Given the description of an element on the screen output the (x, y) to click on. 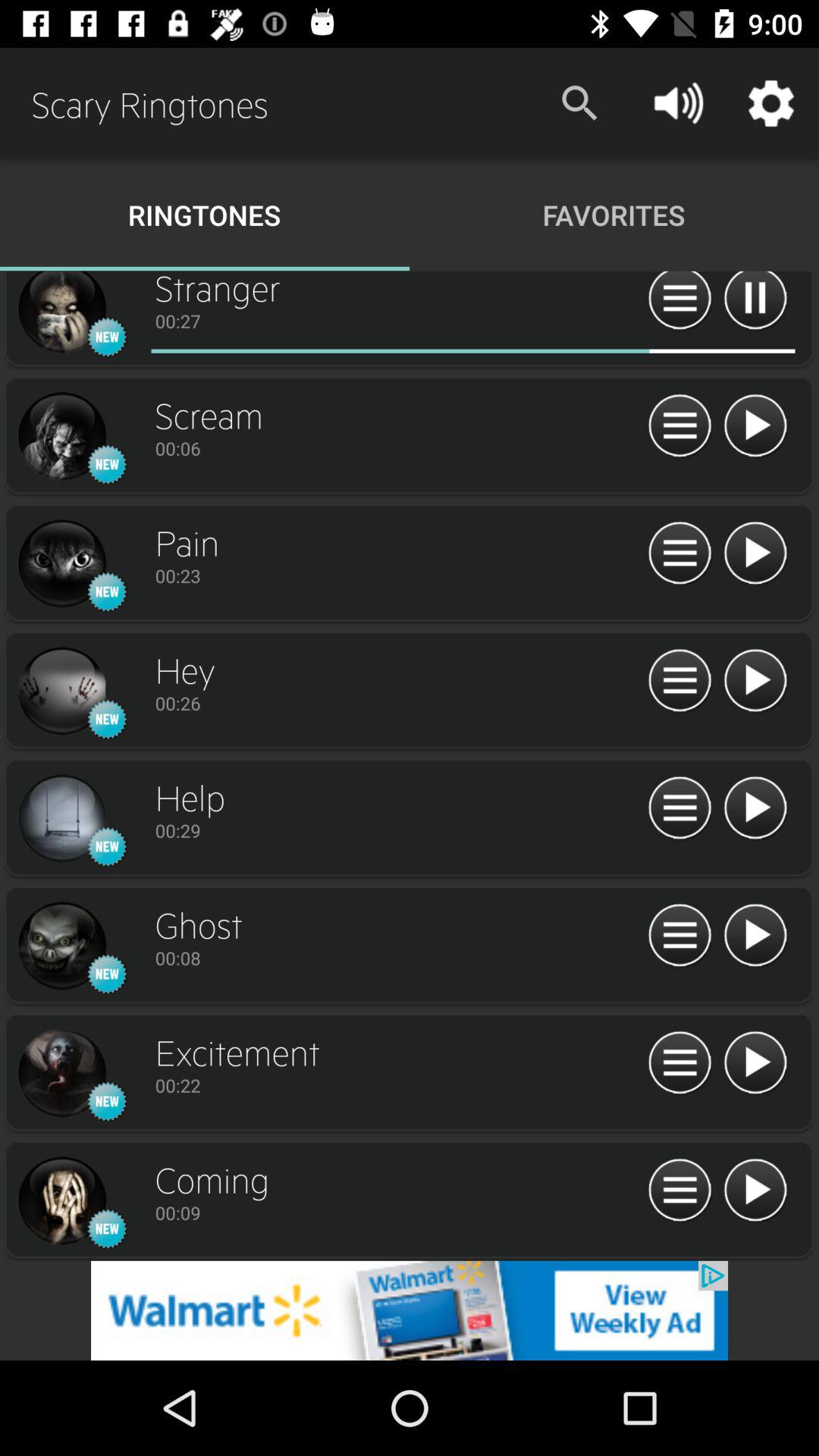
play the ringtone (755, 426)
